Given the description of an element on the screen output the (x, y) to click on. 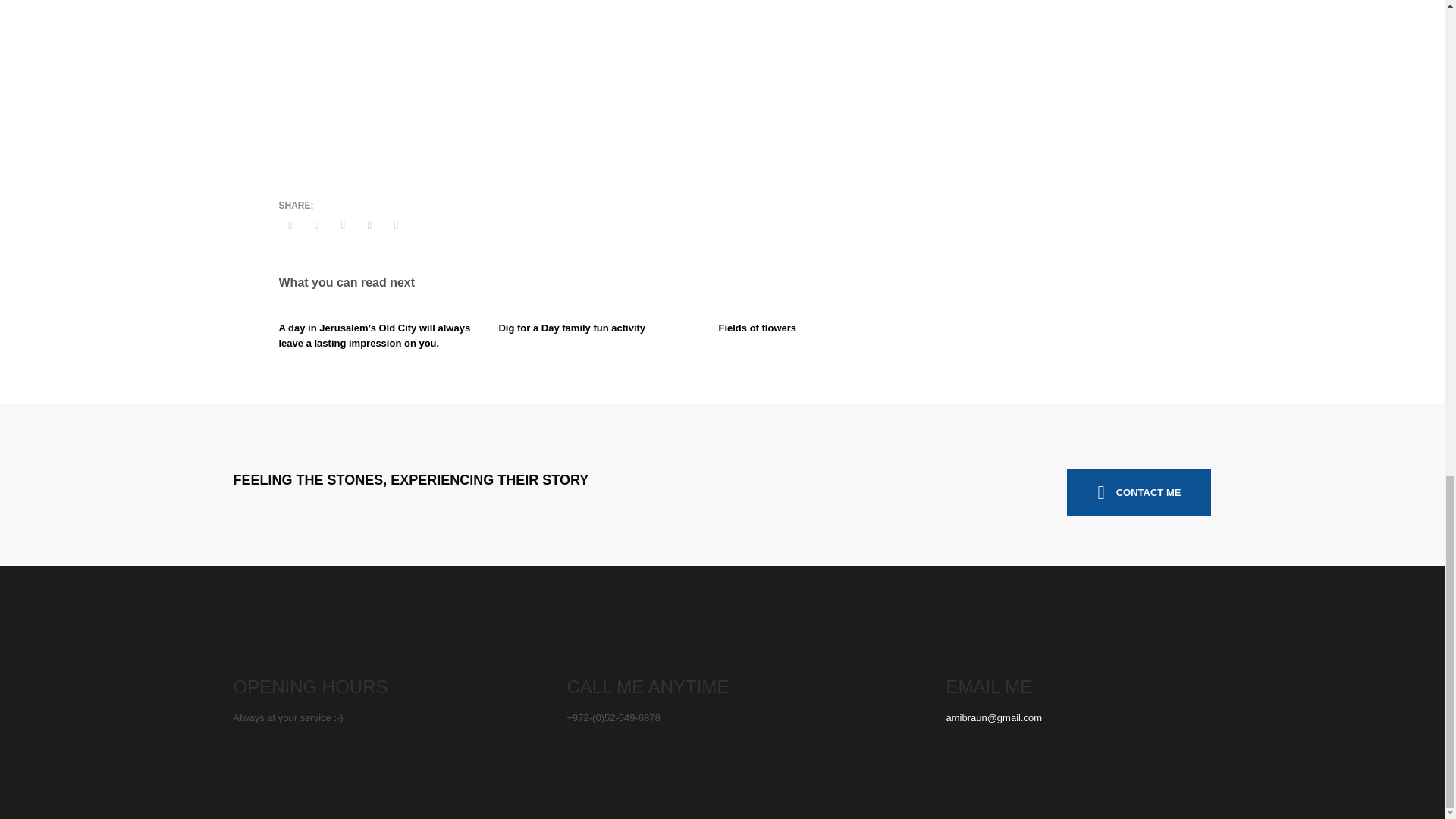
SHARE ON PINTEREST (369, 224)
SHARE ON FACEBOOK (315, 224)
SHARE ON GPLUS (343, 224)
CONTACT ME (1139, 492)
Shilo (468, 74)
SHARE ON TWITTER (290, 225)
Fields of flowers (756, 327)
SHARE ON MAIL (396, 224)
Dig for a Day family fun activity (571, 327)
